Given the description of an element on the screen output the (x, y) to click on. 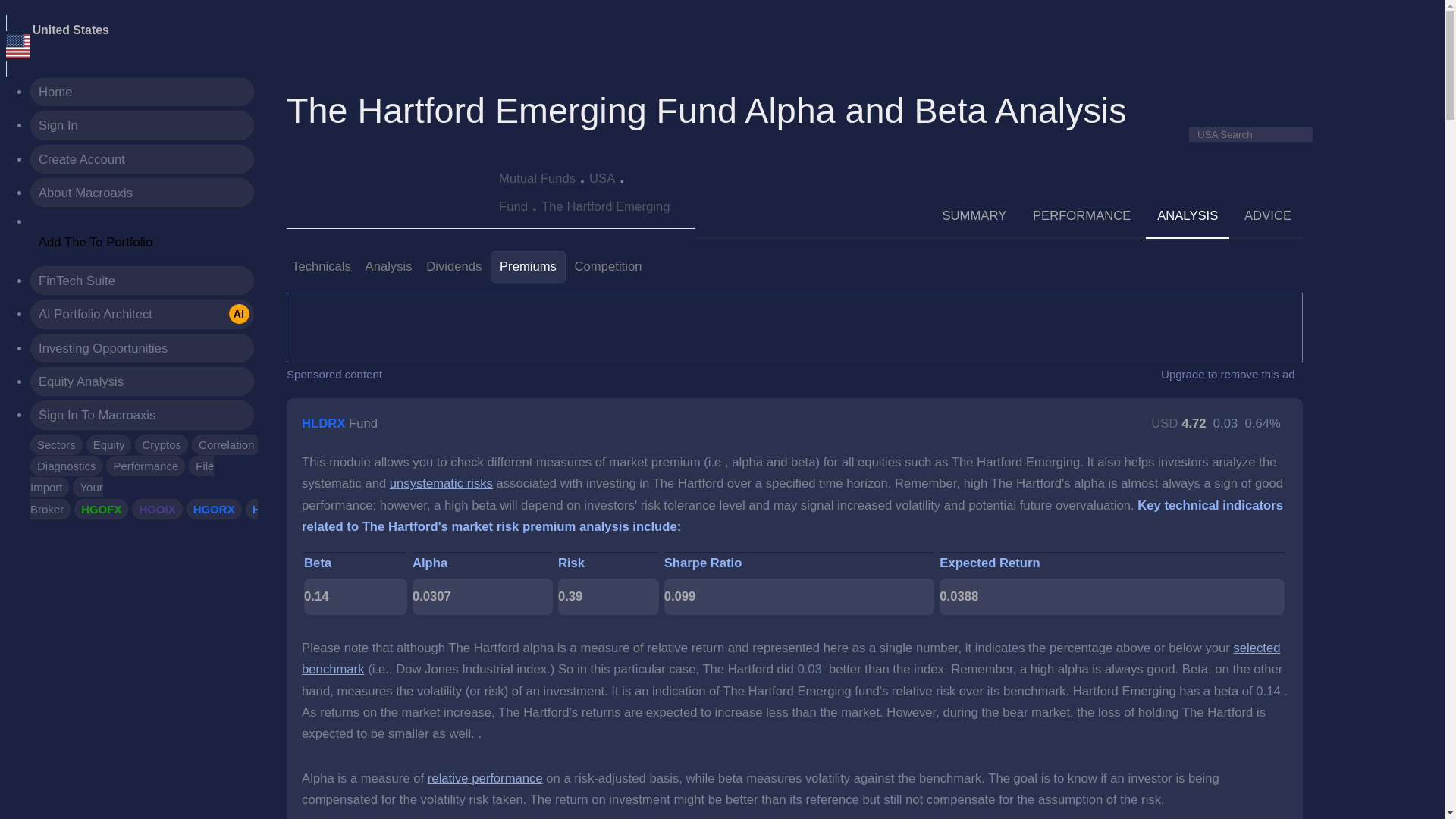
Sign In To Macroaxis (141, 414)
Home (141, 91)
About Macroaxis (141, 192)
Correlation (226, 444)
Add The To Portfolio (95, 241)
United States (17, 46)
FinTech Suite (141, 280)
Select Your Market (70, 29)
Cryptos (161, 444)
Investing Opportunities (141, 347)
